Given the description of an element on the screen output the (x, y) to click on. 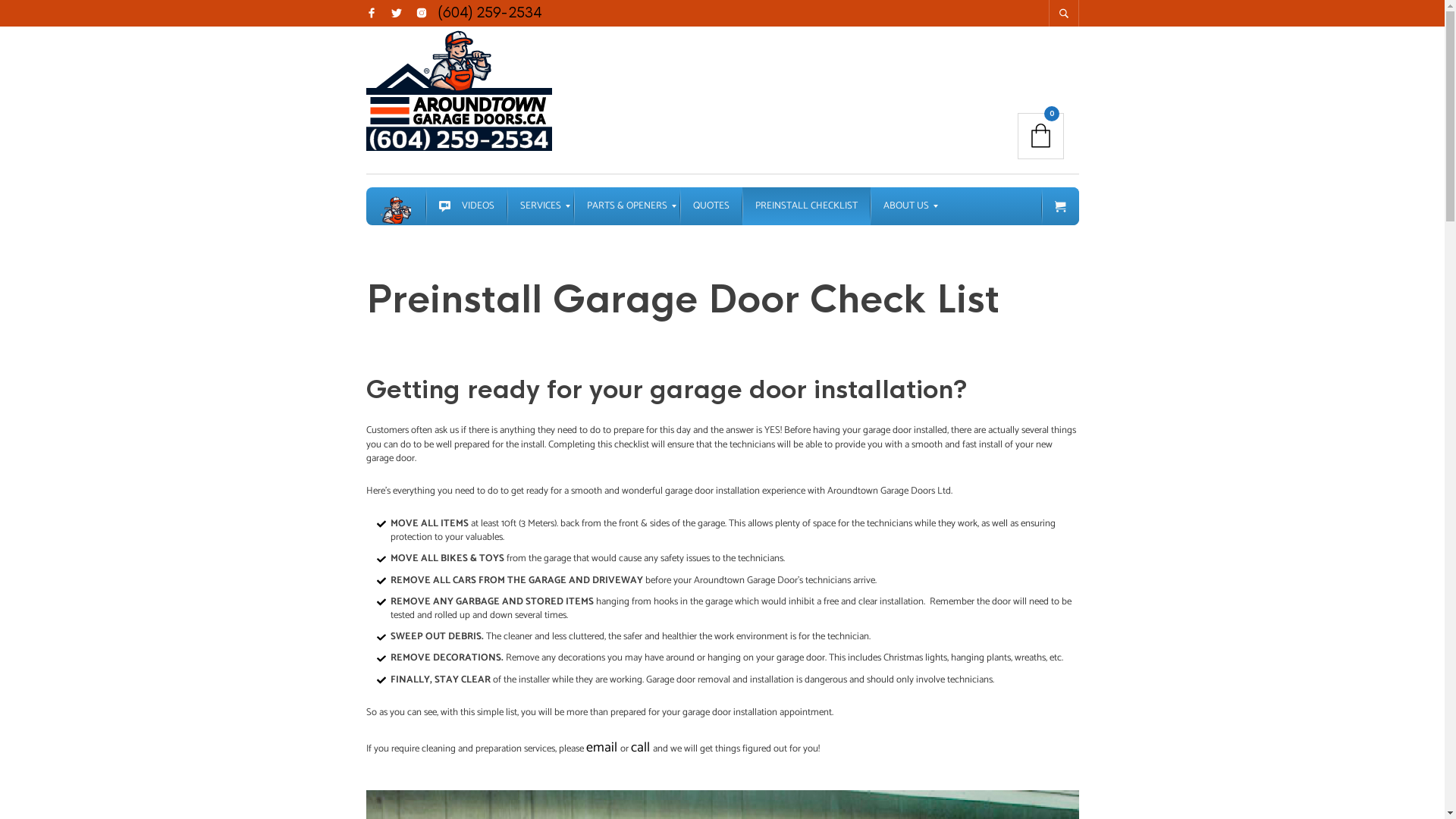
email Element type: text (602, 747)
call Element type: text (641, 747)
ABOUT US Element type: text (905, 206)
VIDEOS Element type: text (466, 206)
PARTS & OPENERS Element type: text (626, 206)
(604) 259-2534 Element type: text (489, 12)
(604) 259-2534 Element type: text (489, 13)
0 Element type: text (1040, 135)
Aroundtown Garage Doors Ltd Element type: hover (395, 206)
SERVICES Element type: text (539, 206)
PREINSTALL CHECKLIST Element type: text (805, 206)
QUOTES Element type: text (710, 206)
